Given the description of an element on the screen output the (x, y) to click on. 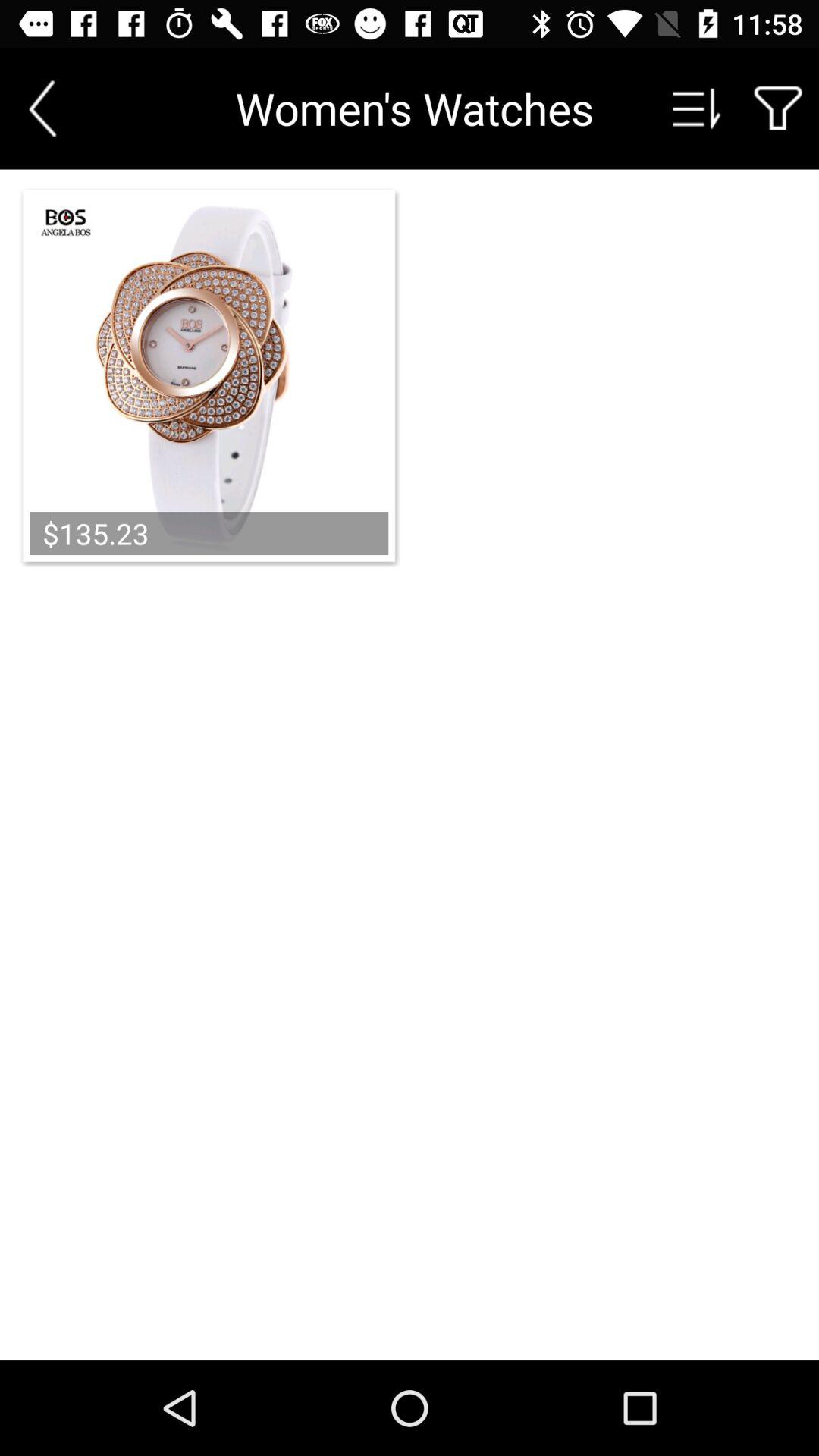
drop down menu (696, 108)
